Given the description of an element on the screen output the (x, y) to click on. 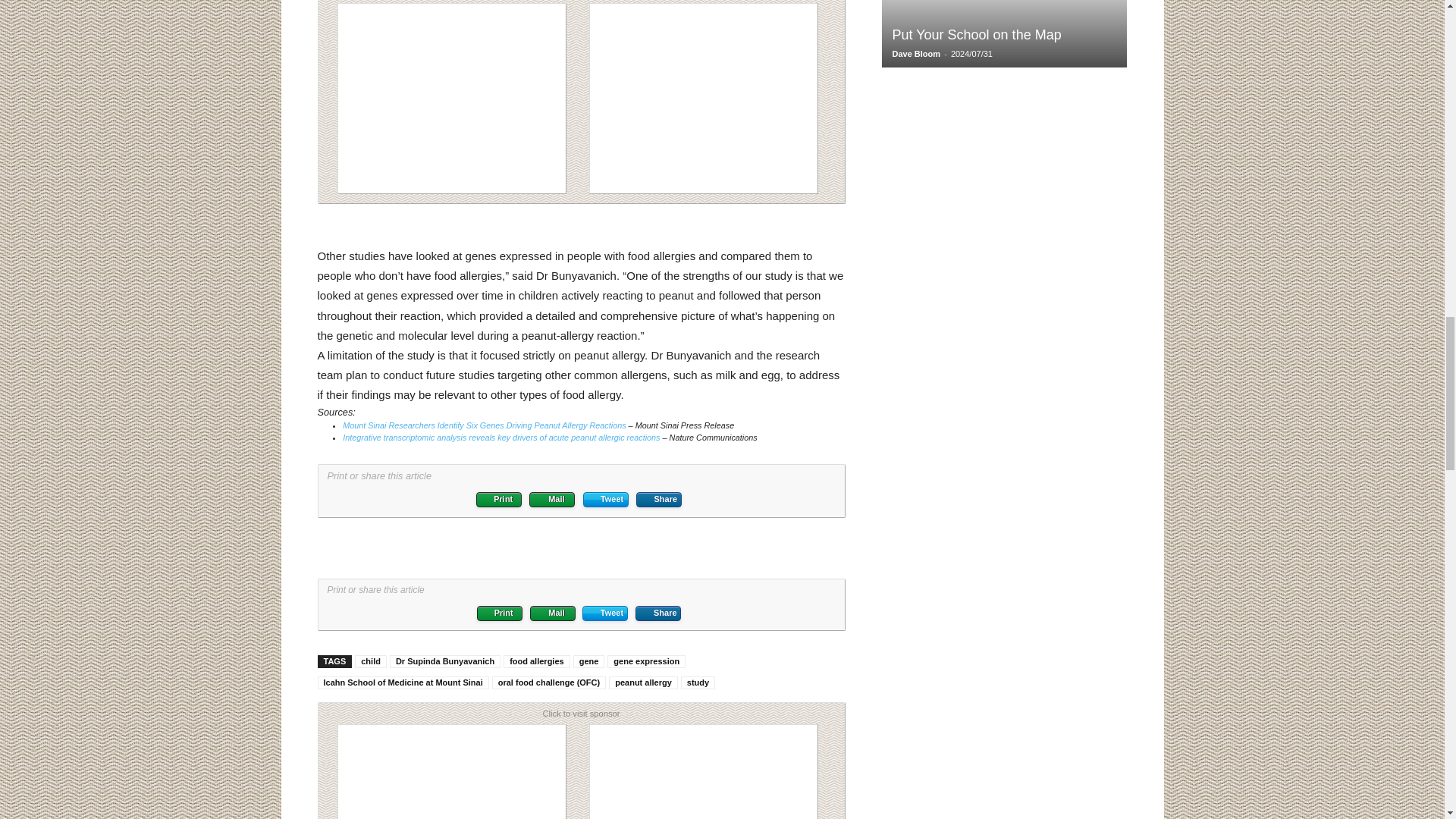
Print or save a PDF of this page (498, 499)
E-mail a link to this page (552, 499)
Print or save a PDF of this page (499, 613)
